Given the description of an element on the screen output the (x, y) to click on. 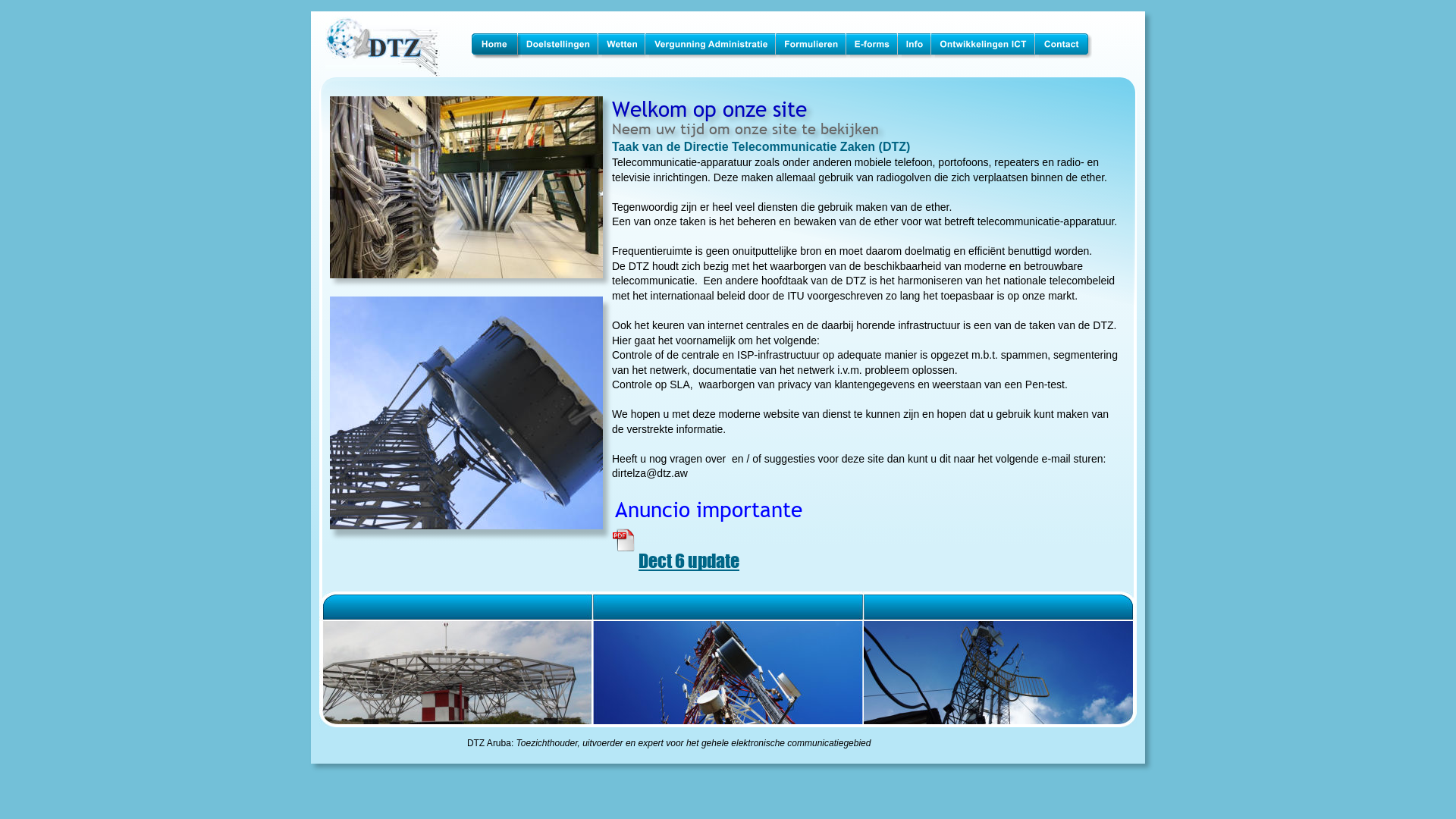
Dect 6 update Element type: text (688, 560)
